Given the description of an element on the screen output the (x, y) to click on. 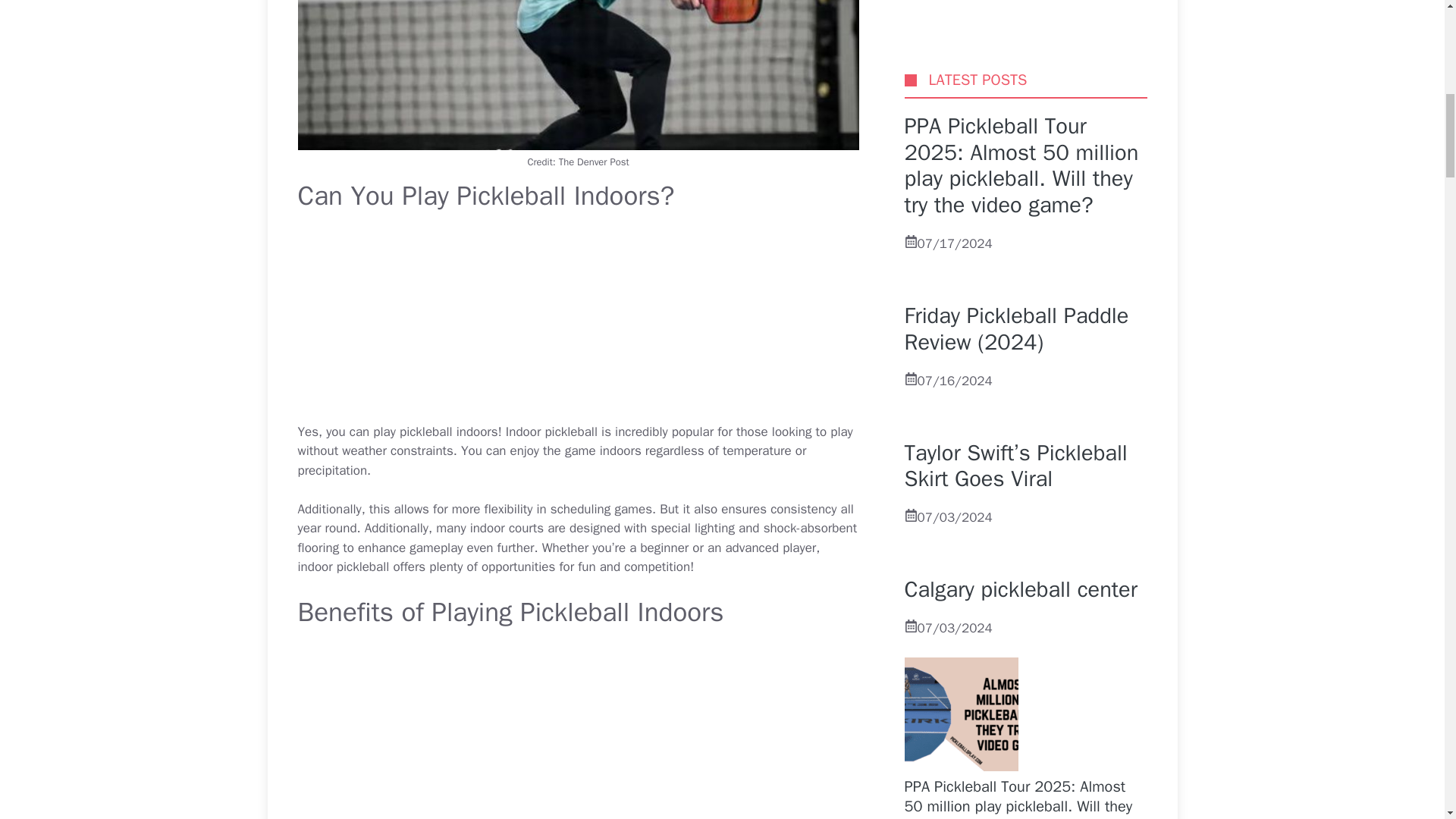
Scroll back to top (1406, 720)
